Given the description of an element on the screen output the (x, y) to click on. 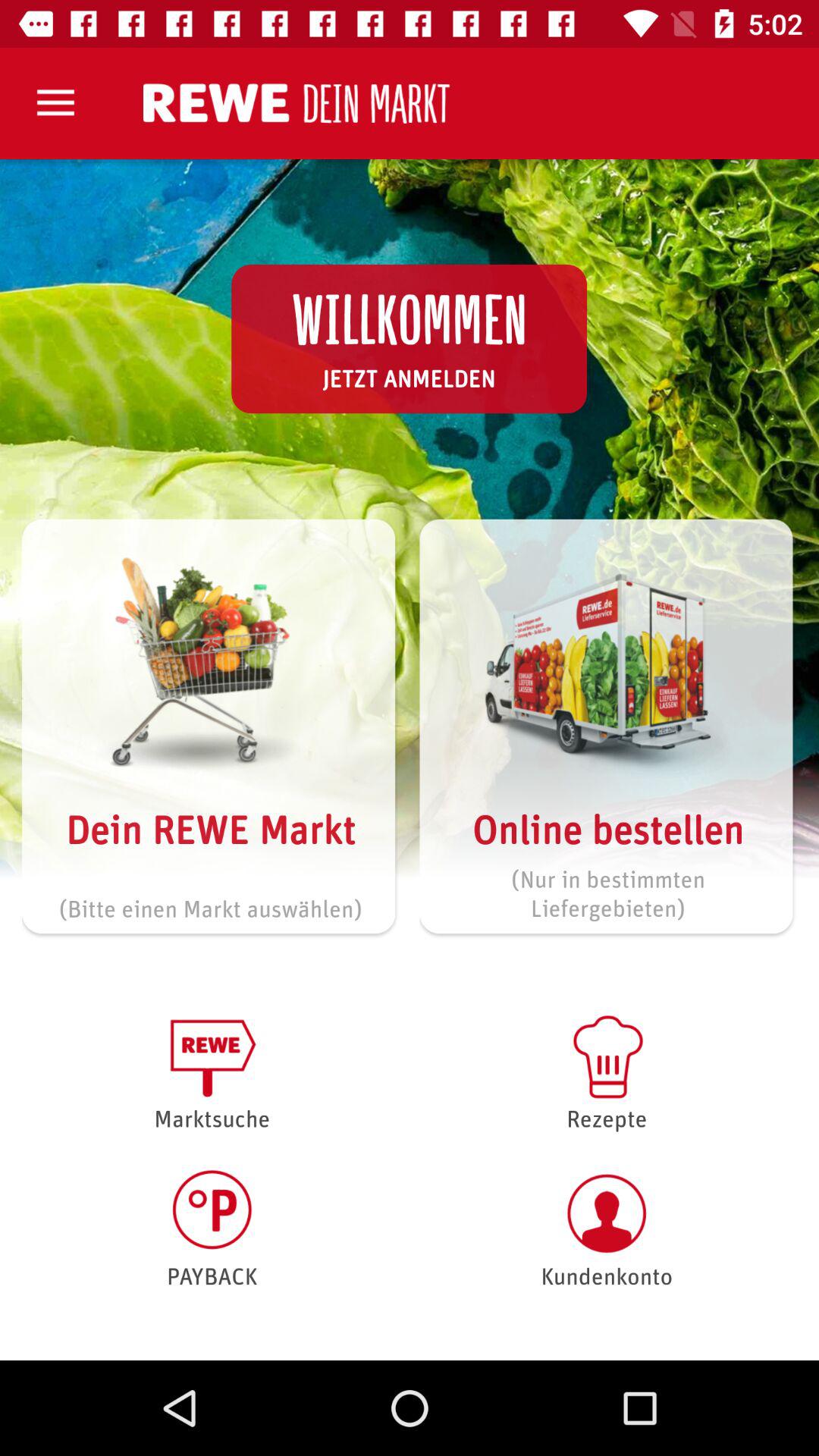
jump until payback item (211, 1228)
